Given the description of an element on the screen output the (x, y) to click on. 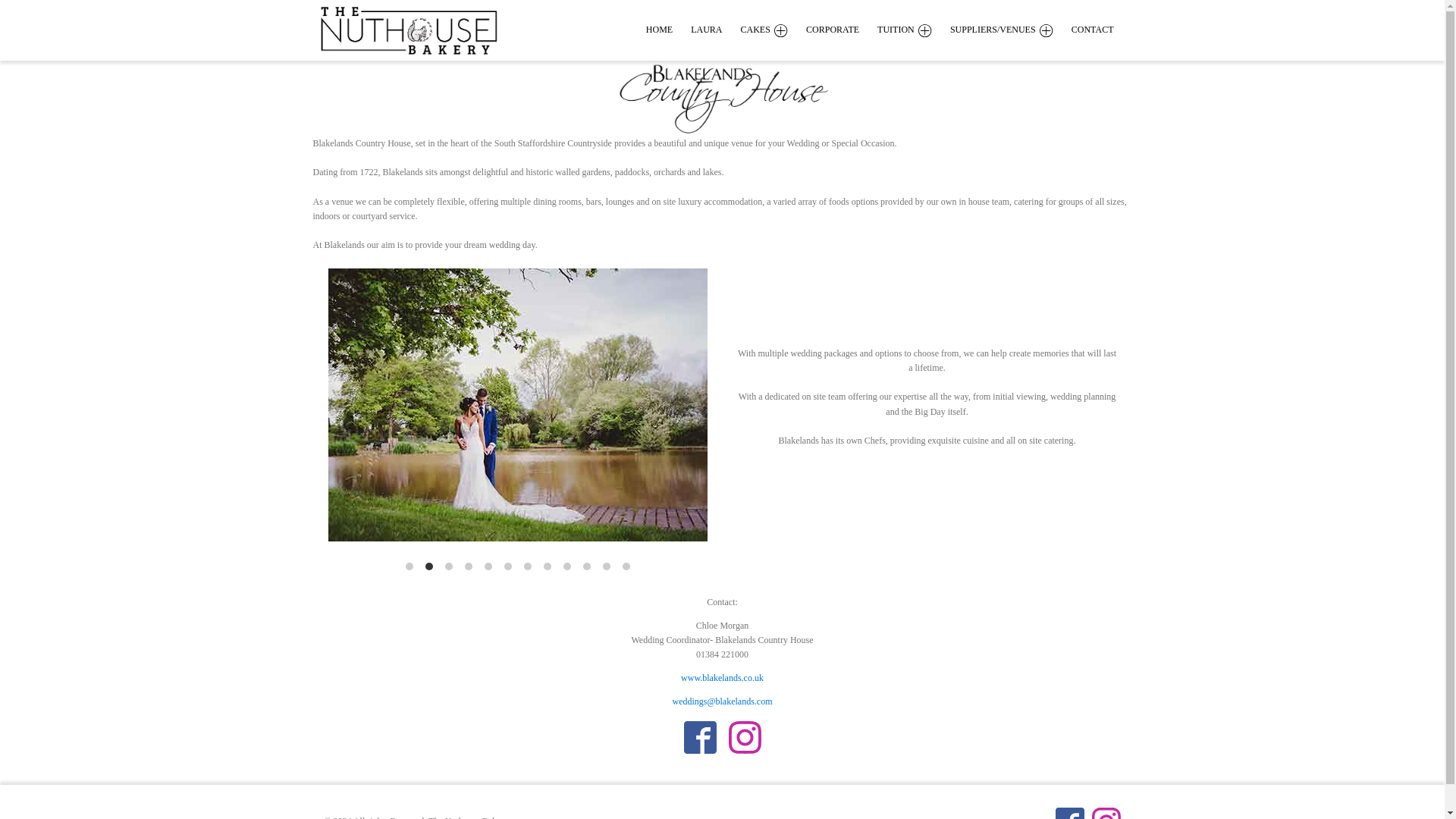
CAKES (773, 29)
TUITION (913, 29)
LAURA (714, 29)
CORPORATE (841, 29)
CONTACT (1101, 29)
HOME (668, 29)
www.blakelands.co.uk (721, 677)
